Given the description of an element on the screen output the (x, y) to click on. 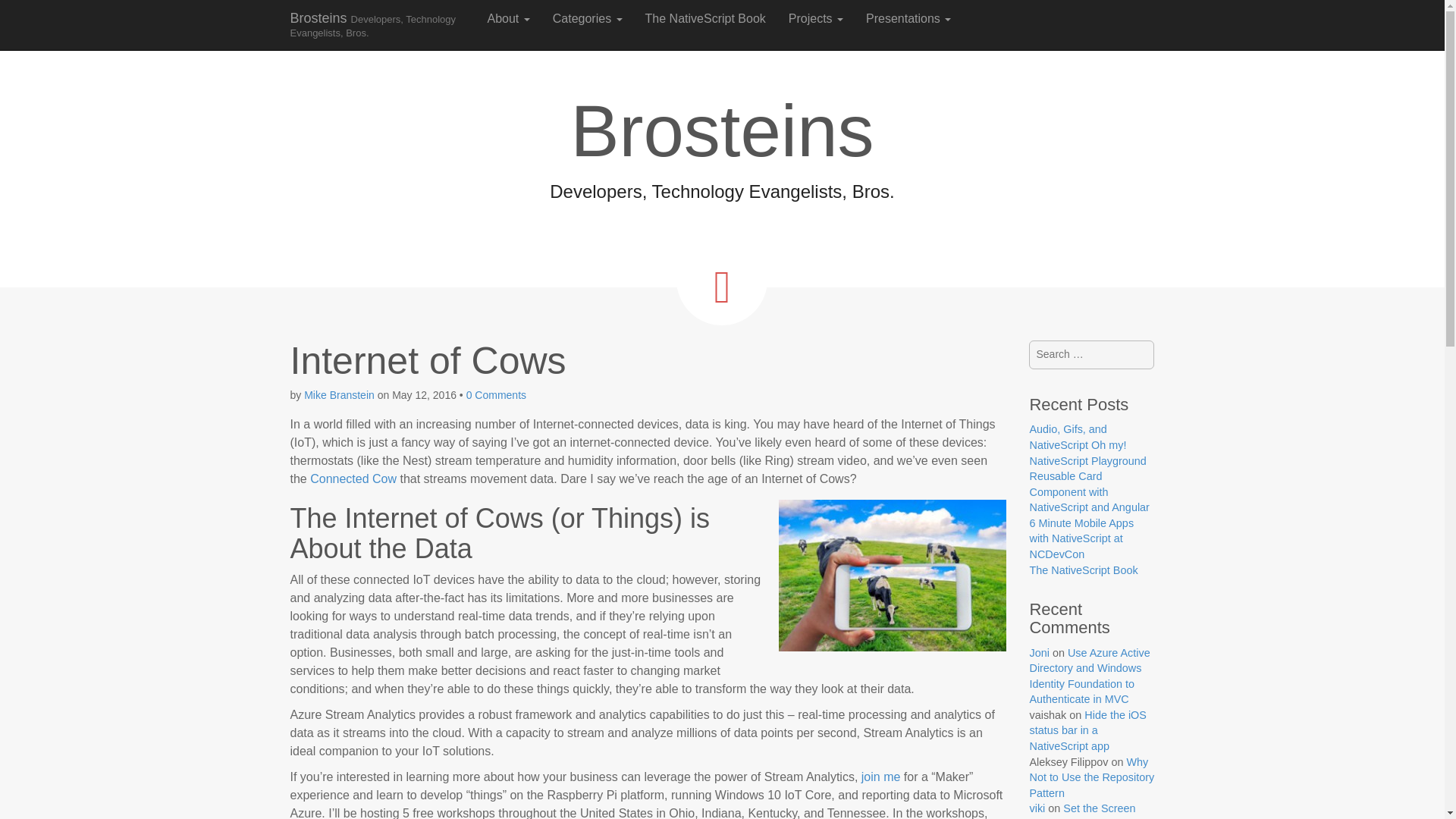
Brosteins (377, 24)
Projects (815, 18)
May 12, 2016 (424, 395)
join me (881, 776)
The NativeScript Book (705, 18)
Categories (587, 18)
Brosteins Developers, Technology Evangelists, Bros. (377, 24)
Presentations (908, 18)
0 Comments (495, 395)
Posts by Mike Branstein (339, 395)
